Given the description of an element on the screen output the (x, y) to click on. 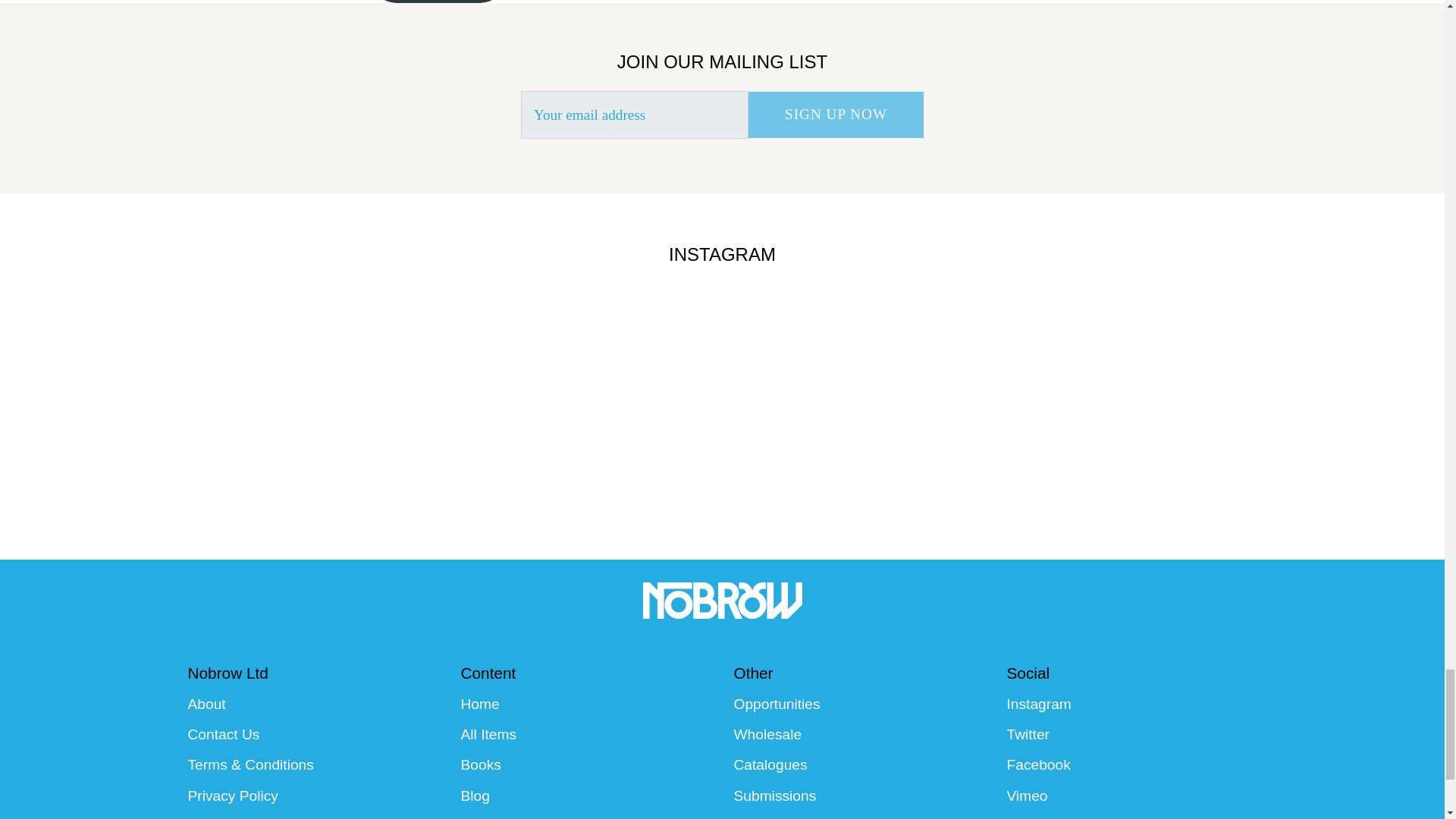
Buy The Book (437, 1)
